Given the description of an element on the screen output the (x, y) to click on. 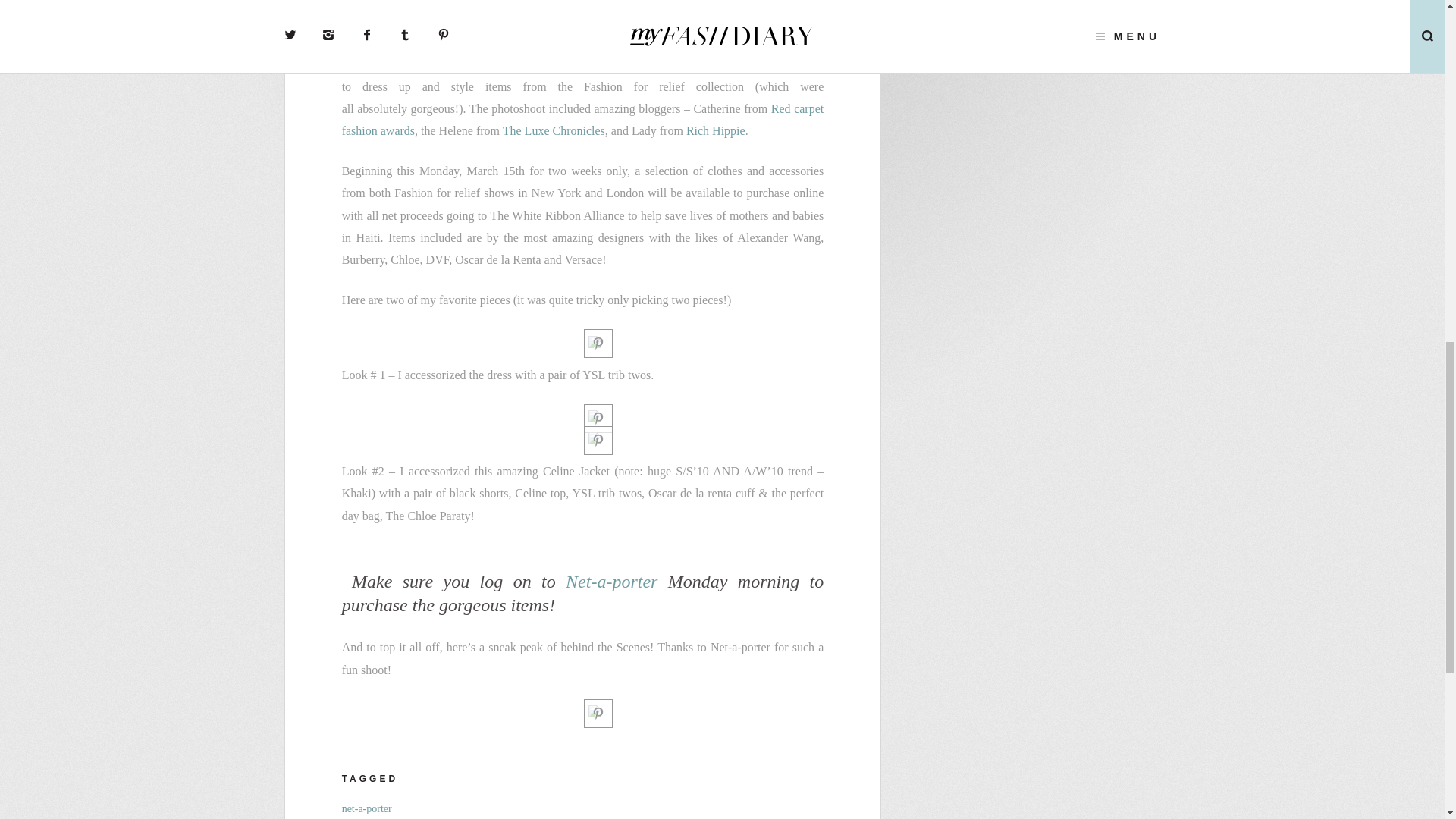
The Luxe Chronicles (553, 130)
Rich Hippie (715, 130)
Red carpet fashion awards (583, 119)
